Given the description of an element on the screen output the (x, y) to click on. 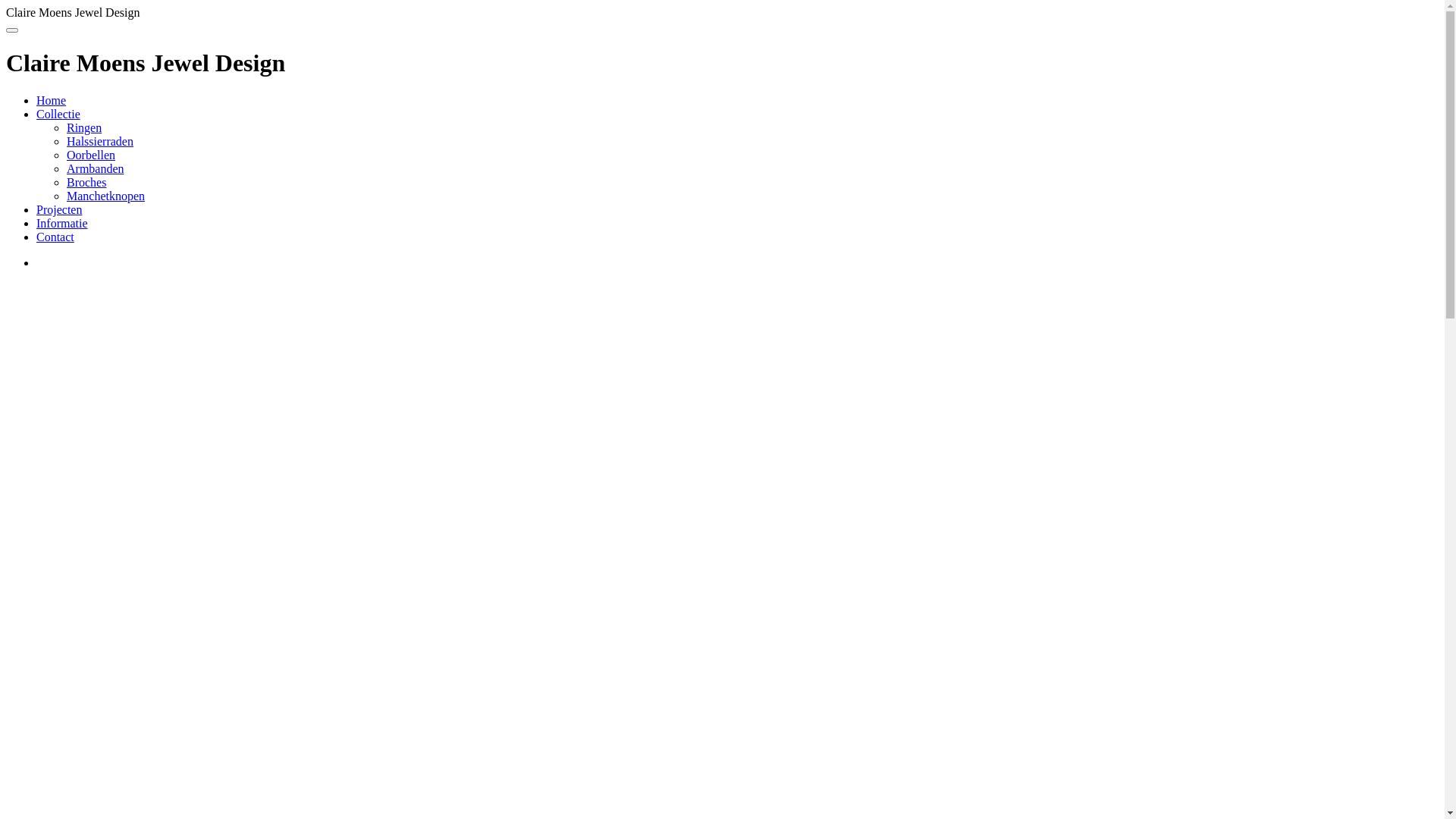
Armbanden Element type: text (95, 168)
Broches Element type: text (86, 181)
Home Element type: text (50, 100)
Ringen Element type: text (83, 127)
Projecten Element type: text (58, 209)
Contact Element type: text (55, 236)
Oorbellen Element type: text (90, 154)
Halssierraden Element type: text (99, 140)
Collectie Element type: text (58, 113)
Informatie Element type: text (61, 222)
Manchetknopen Element type: text (105, 195)
